Given the description of an element on the screen output the (x, y) to click on. 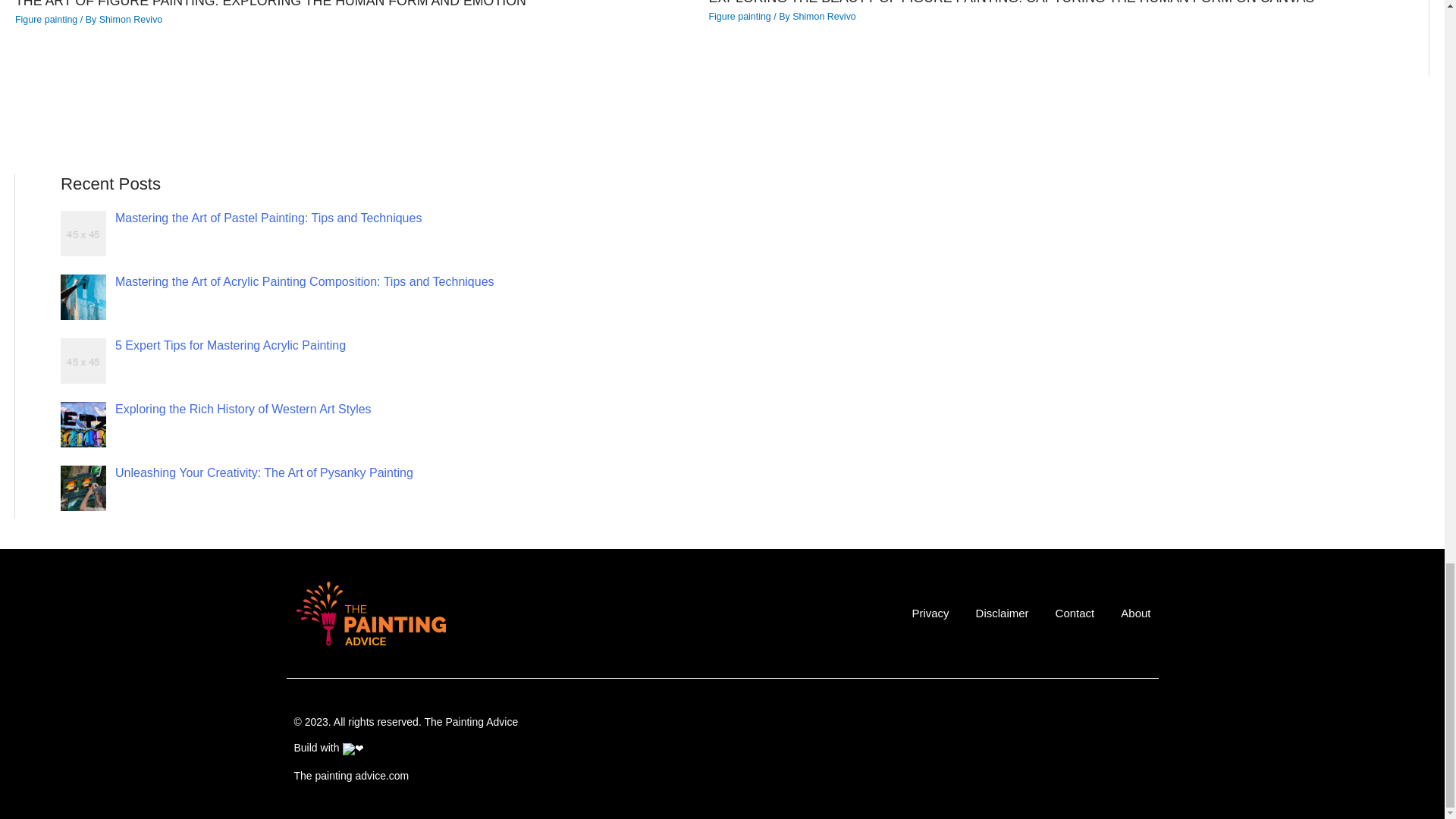
Shimon Revivo (131, 19)
Figure painting (738, 16)
View all posts by Shimon Revivo (824, 16)
cropped-logo.png (369, 613)
Shimon Revivo (824, 16)
Figure painting (45, 19)
View all posts by Shimon Revivo (131, 19)
